Given the description of an element on the screen output the (x, y) to click on. 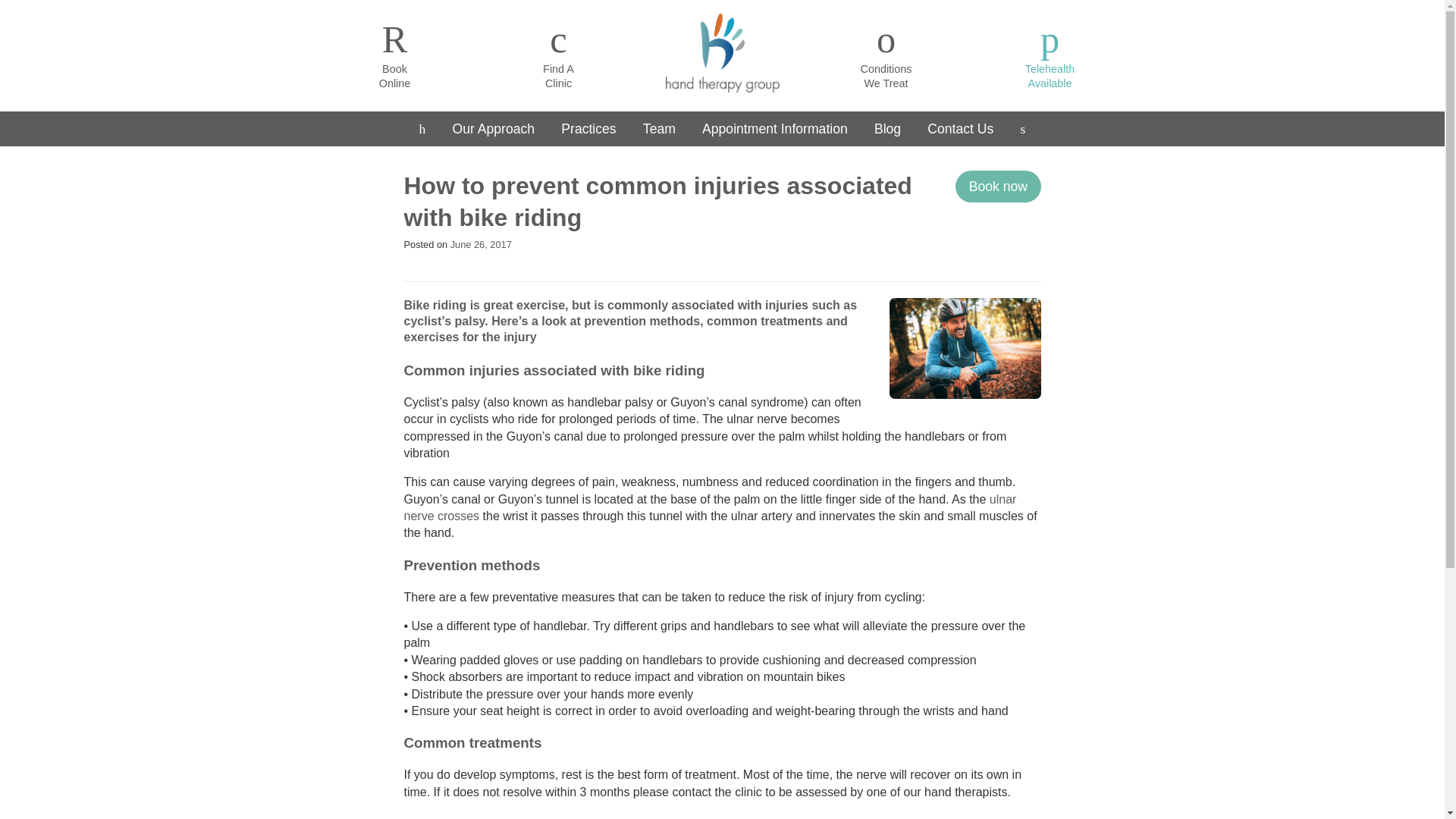
Our Approach (493, 128)
Book Online (394, 55)
Home (886, 55)
Telehealth Available (422, 128)
Appointment Information (1049, 55)
h (774, 128)
June 26, 2017 (422, 128)
Blog (480, 244)
